Given the description of an element on the screen output the (x, y) to click on. 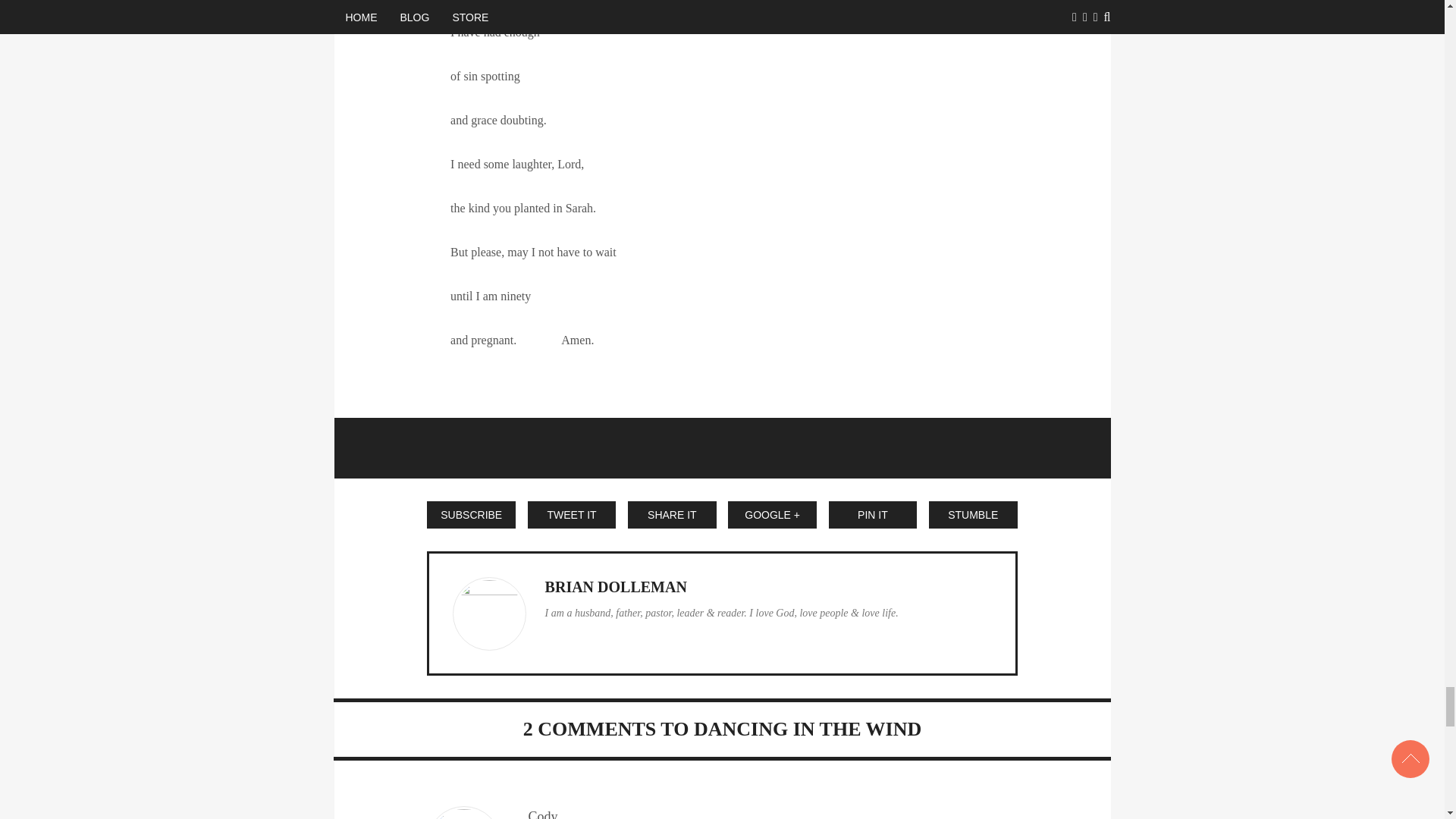
STUMBLE (972, 514)
SUBSCRIBE (470, 514)
PIN IT (872, 514)
Comment on Dancing In The Wind (589, 729)
TWEET IT (571, 514)
SHARE IT (671, 514)
